Given the description of an element on the screen output the (x, y) to click on. 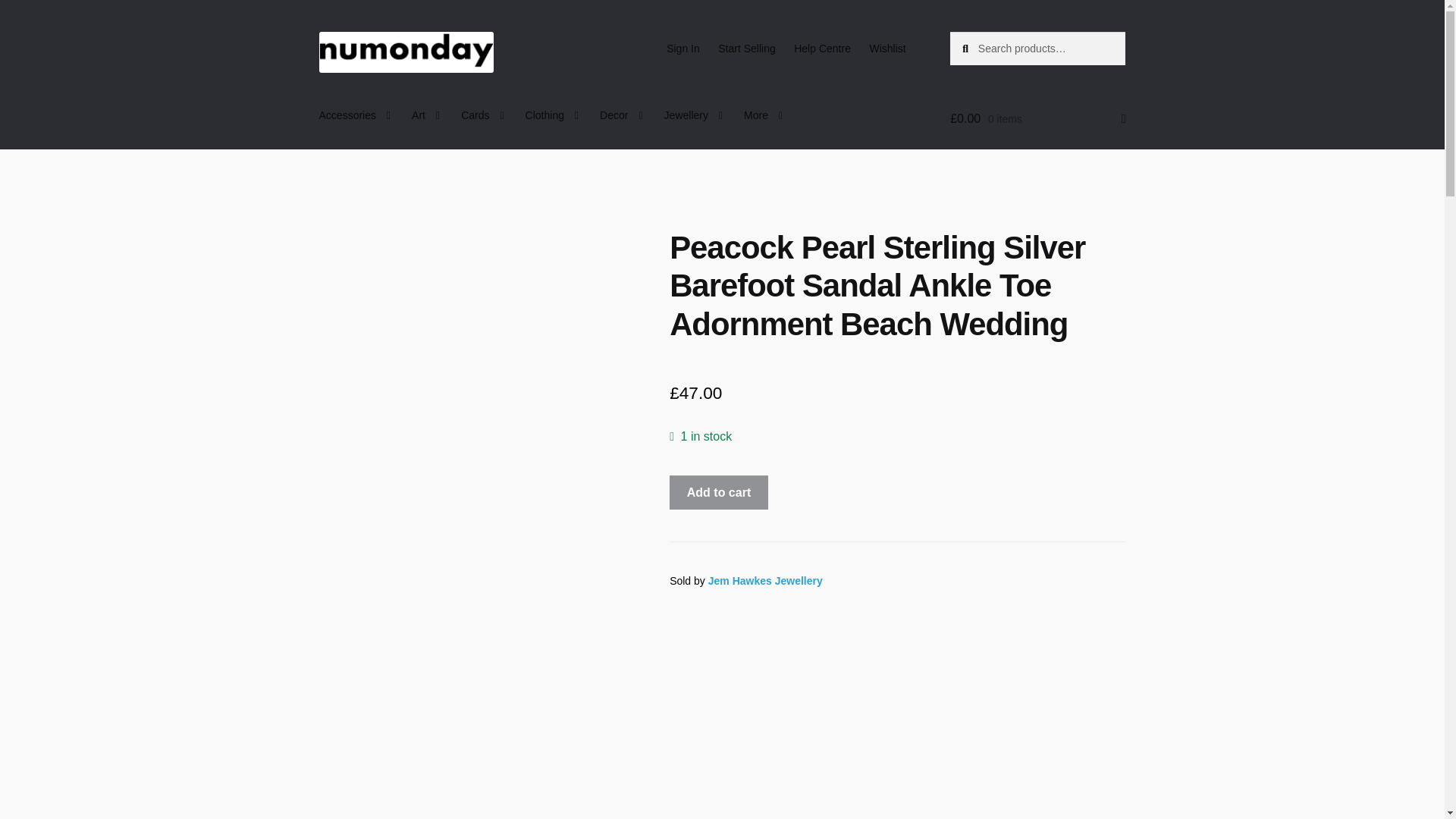
Accessories (354, 115)
View your shopping cart (1037, 118)
Start Selling (746, 48)
Art (425, 115)
Sign In (683, 48)
Help Centre (822, 48)
Wishlist (887, 48)
